Given the description of an element on the screen output the (x, y) to click on. 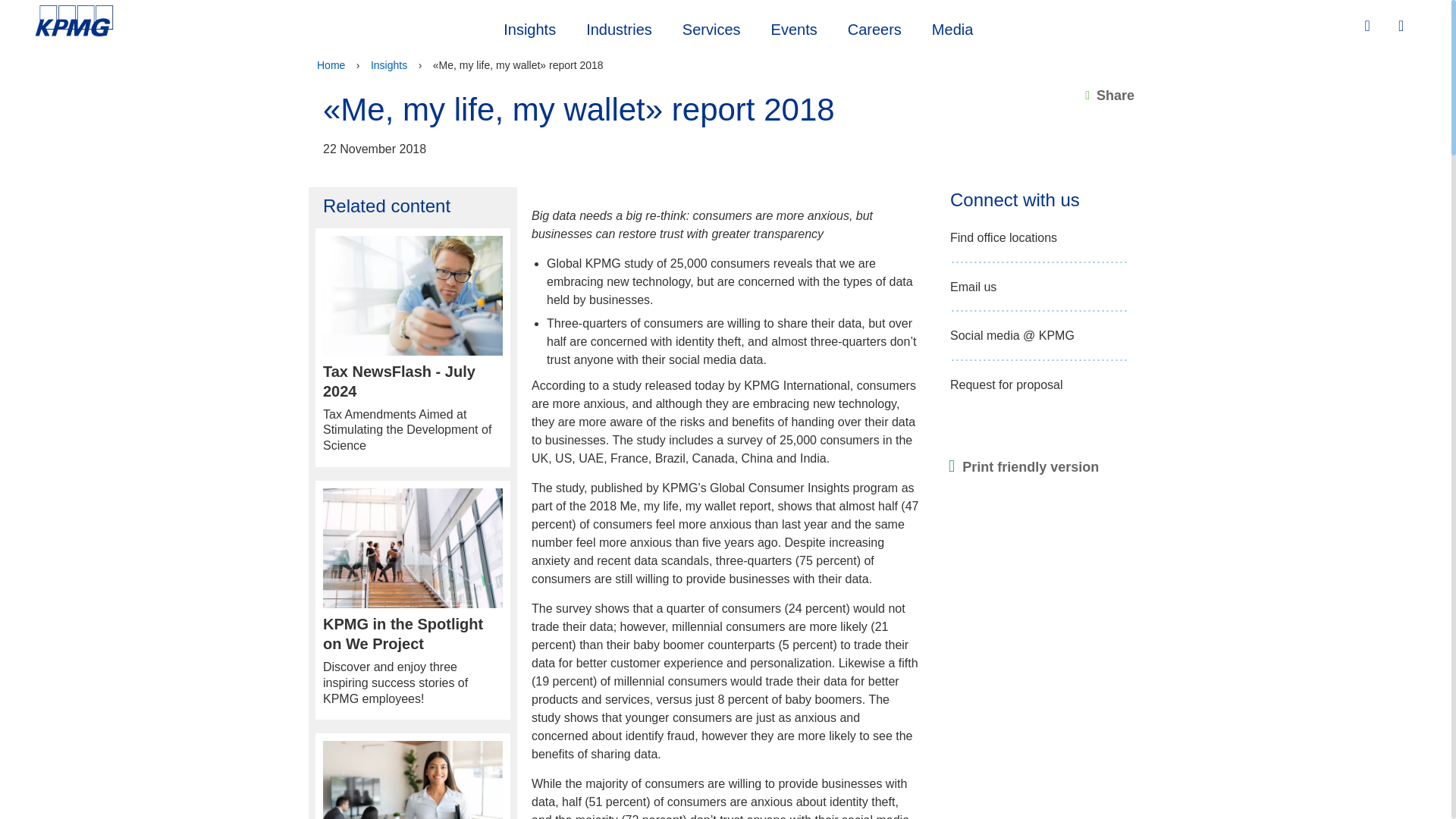
Media (952, 27)
Print friendly version (1024, 467)
Request for proposal (1006, 385)
Email us (972, 287)
Careers (874, 27)
Insights (528, 27)
Share (1109, 96)
Events (793, 27)
Find office locations (412, 780)
Industries (1003, 238)
Home (618, 27)
Site Selector (330, 64)
Search (1402, 26)
Services (1369, 26)
